Given the description of an element on the screen output the (x, y) to click on. 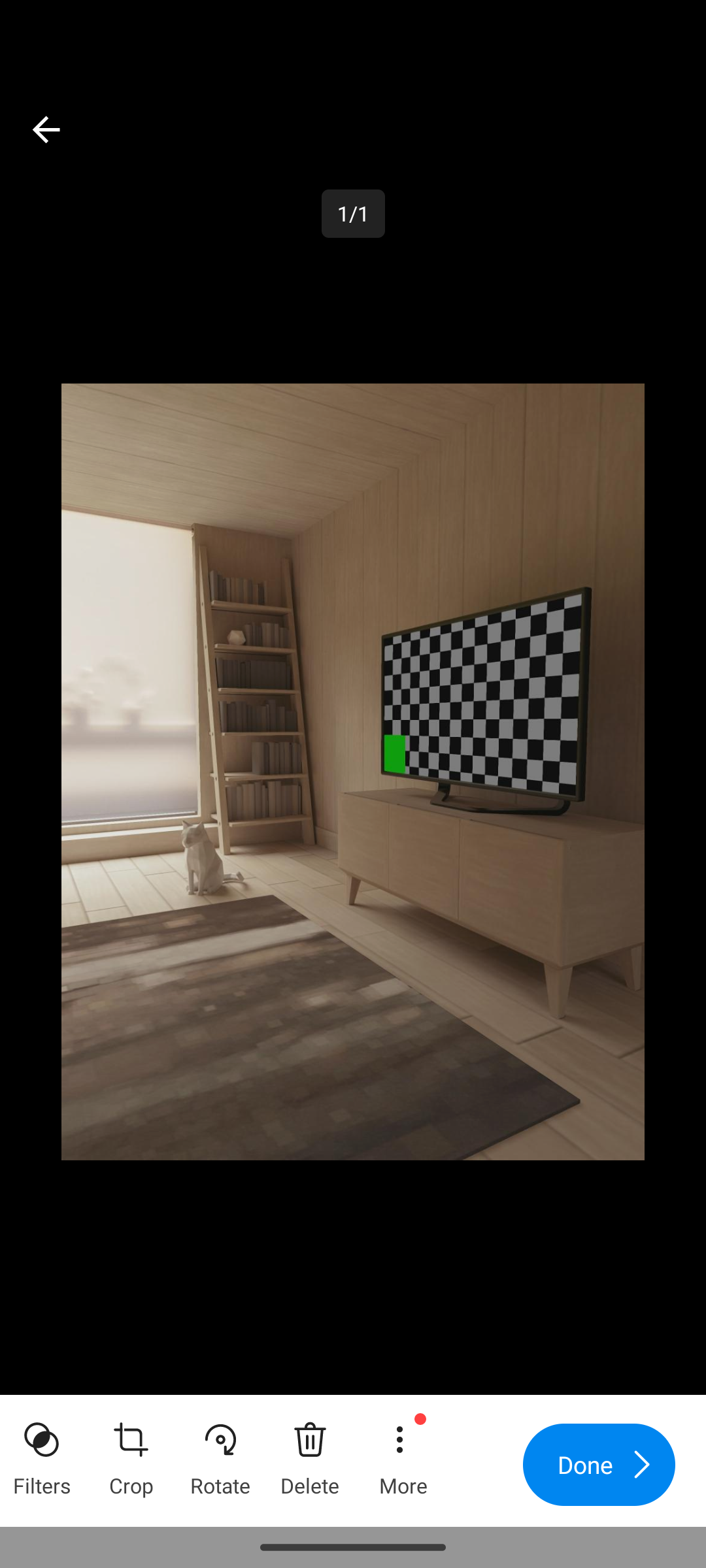
Back (46, 129)
Filters (41, 1453)
Crop (130, 1453)
Rotate (220, 1453)
Delete (309, 1453)
More (401, 1453)
Done (598, 1464)
